Given the description of an element on the screen output the (x, y) to click on. 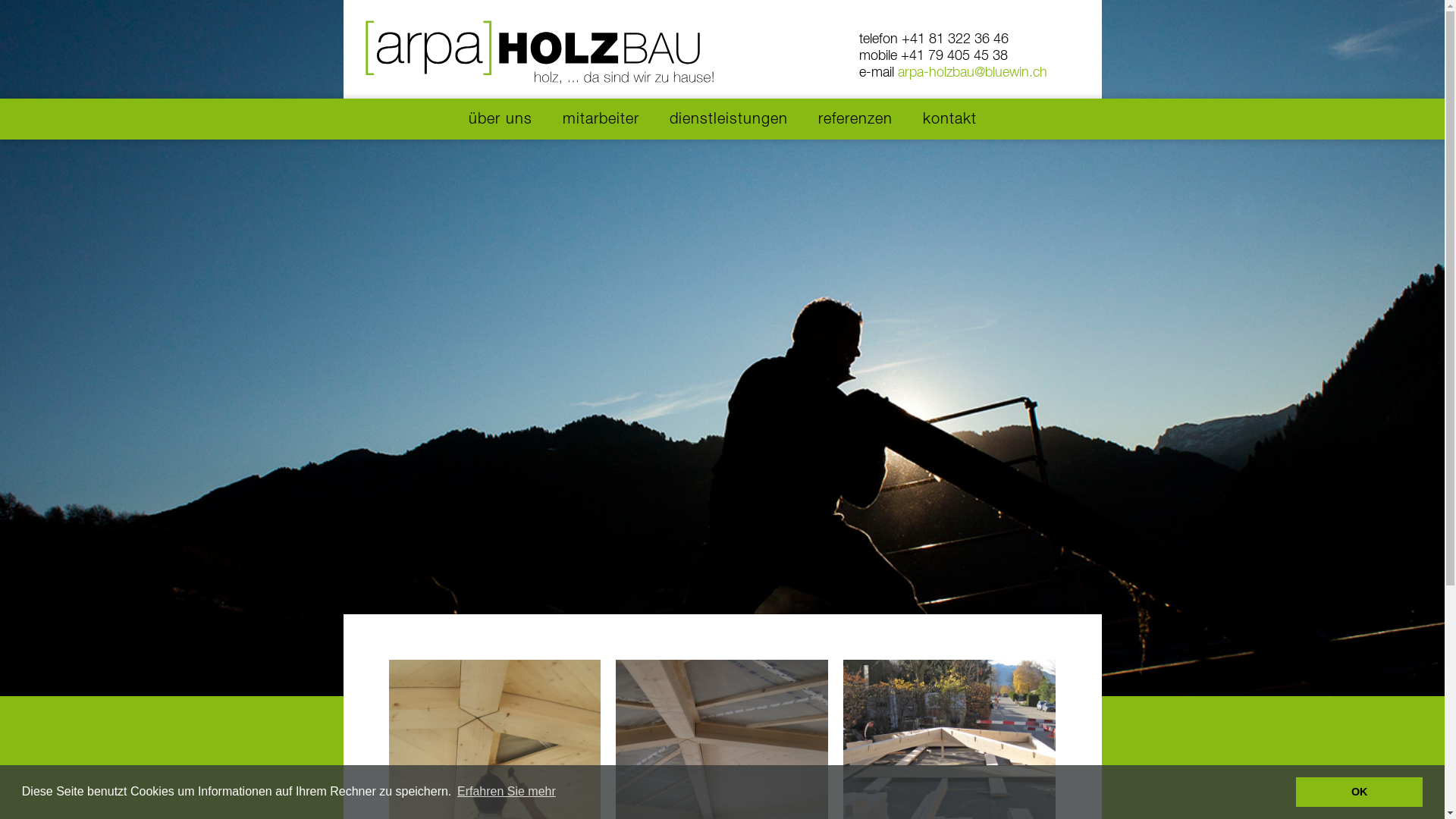
mitarbeiter Element type: text (600, 118)
dienstleistungen Element type: text (727, 118)
arpa-holzbau@bluewin.ch Element type: text (972, 72)
Erfahren Sie mehr Element type: text (506, 791)
kontakt Element type: text (948, 118)
referenzen Element type: text (854, 118)
OK Element type: text (1358, 791)
